Given the description of an element on the screen output the (x, y) to click on. 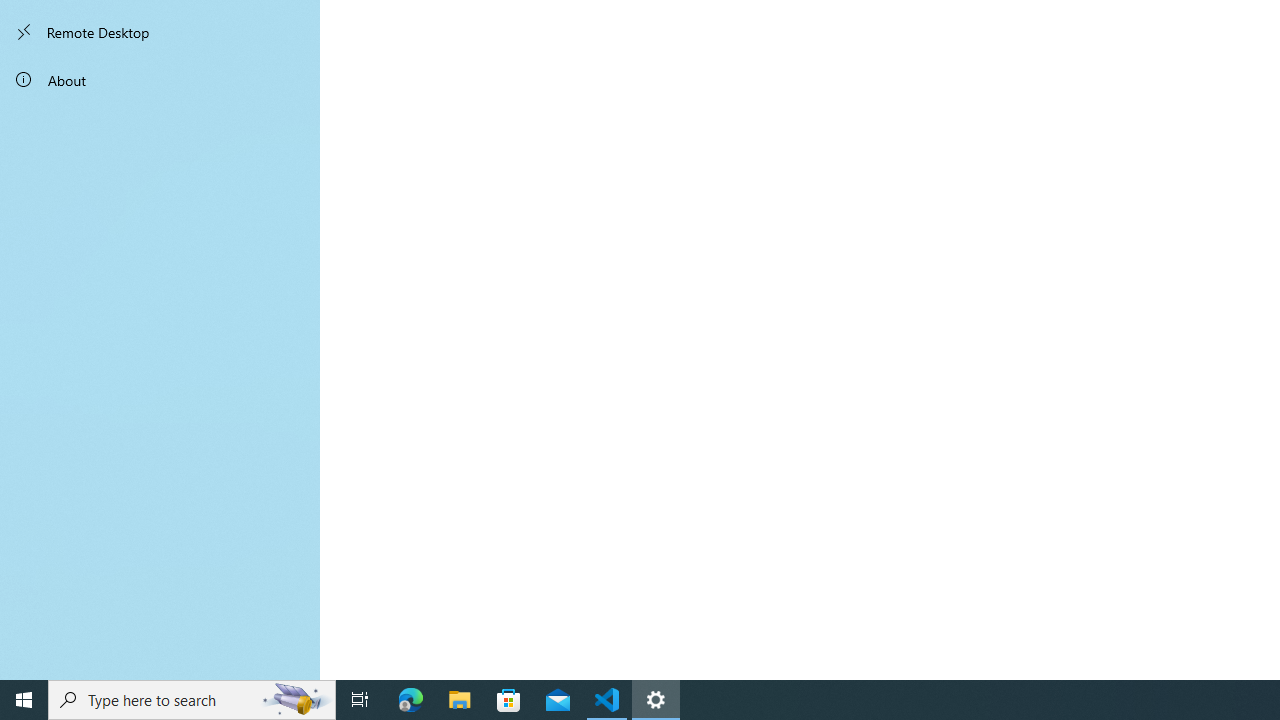
About (160, 79)
Remote Desktop (160, 31)
